Given the description of an element on the screen output the (x, y) to click on. 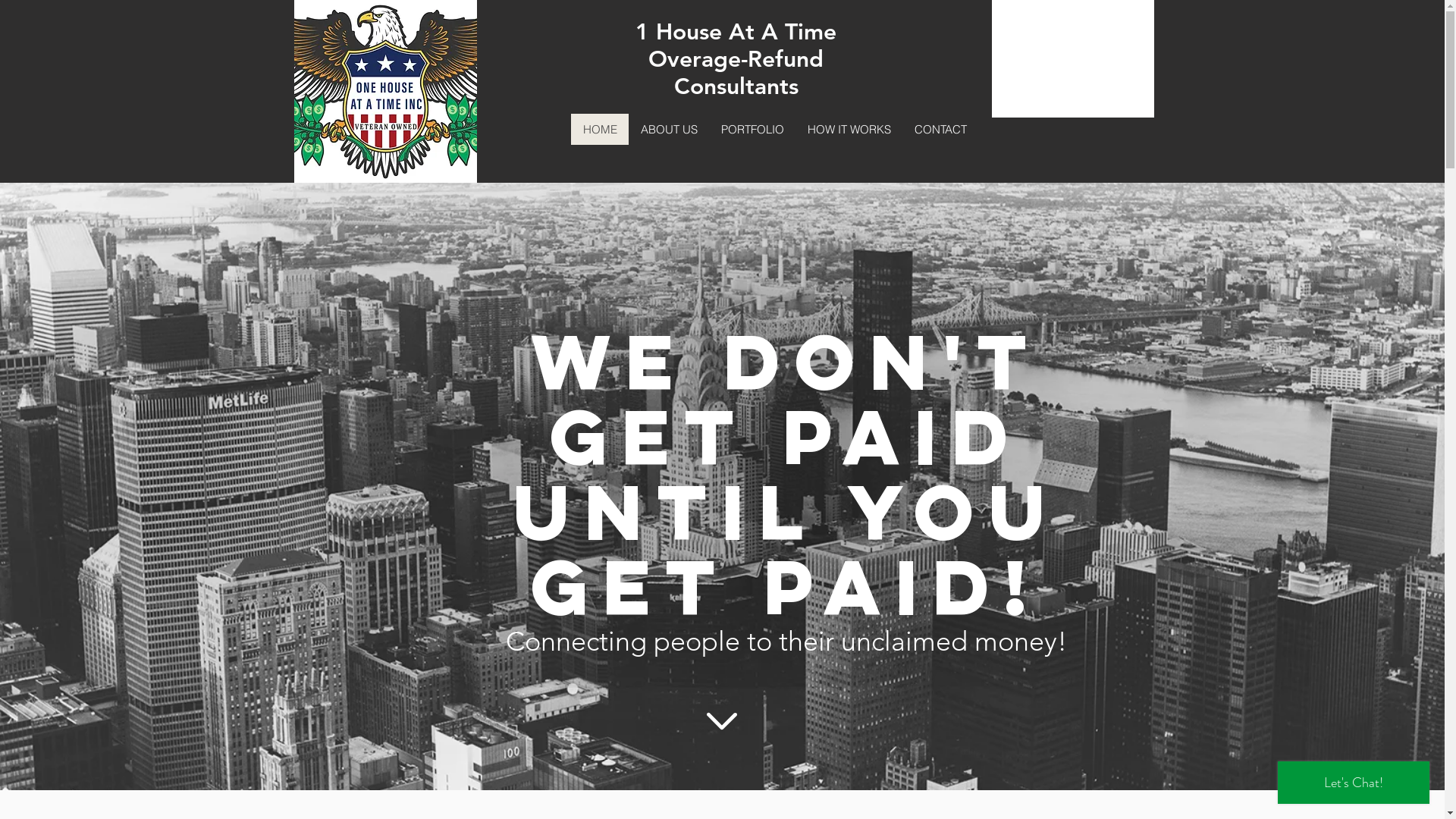
1 House At A Time Overage-Refund Consultants Element type: text (735, 59)
CONTACT Element type: text (940, 128)
Embedded Content Element type: hover (1072, 58)
ABOUT US Element type: text (667, 128)
HOME Element type: text (598, 128)
PORTFOLIO Element type: text (751, 128)
HOW IT WORKS Element type: text (847, 128)
